Given the description of an element on the screen output the (x, y) to click on. 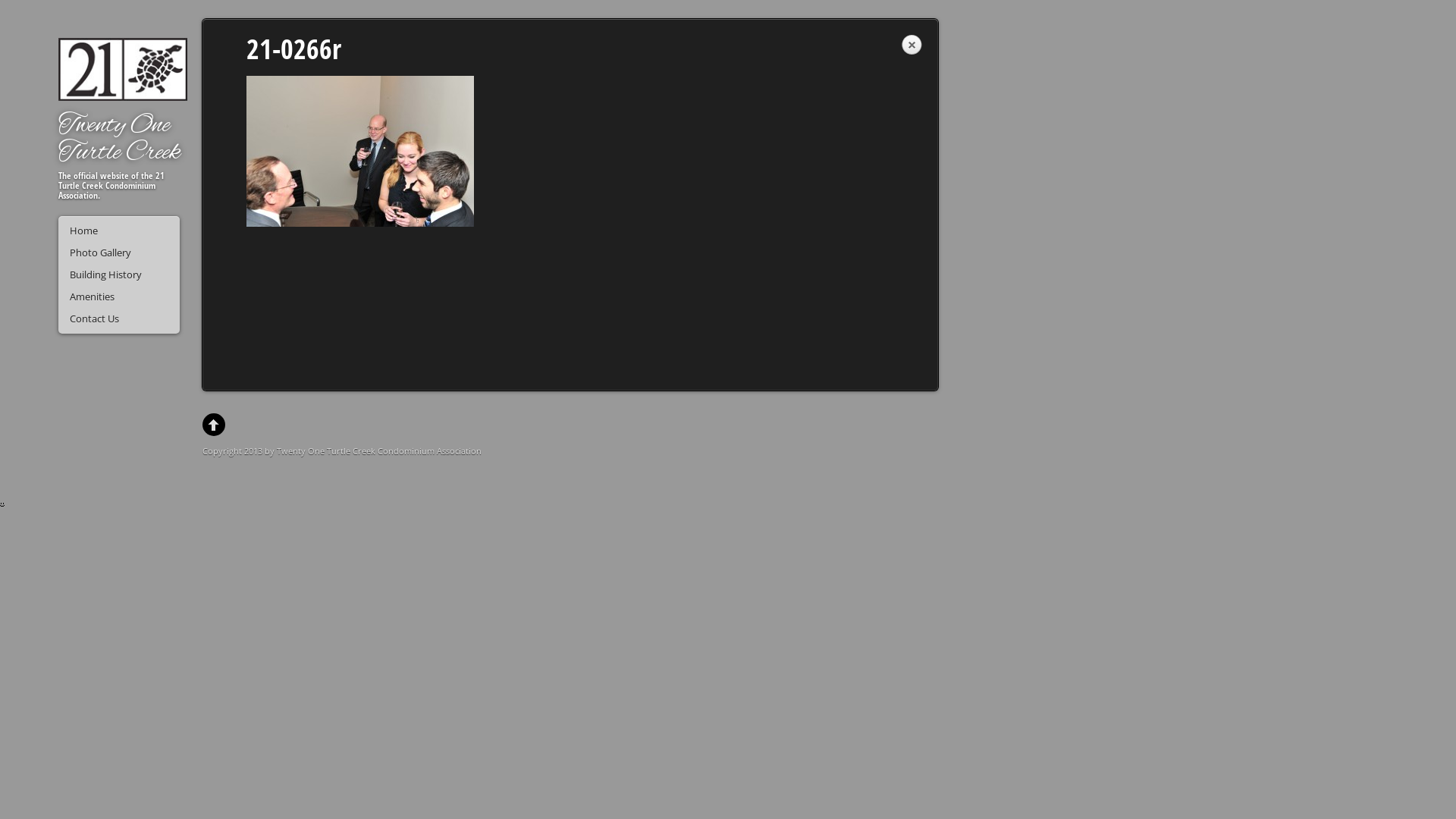
Building History Element type: text (118, 274)
Twenty One Turtle Creek Element type: text (119, 138)
Photo Gallery Element type: text (118, 252)
Home Element type: text (118, 230)
Amenities Element type: text (118, 296)
Close Element type: text (911, 45)
Contact Us Element type: text (118, 318)
